Given the description of an element on the screen output the (x, y) to click on. 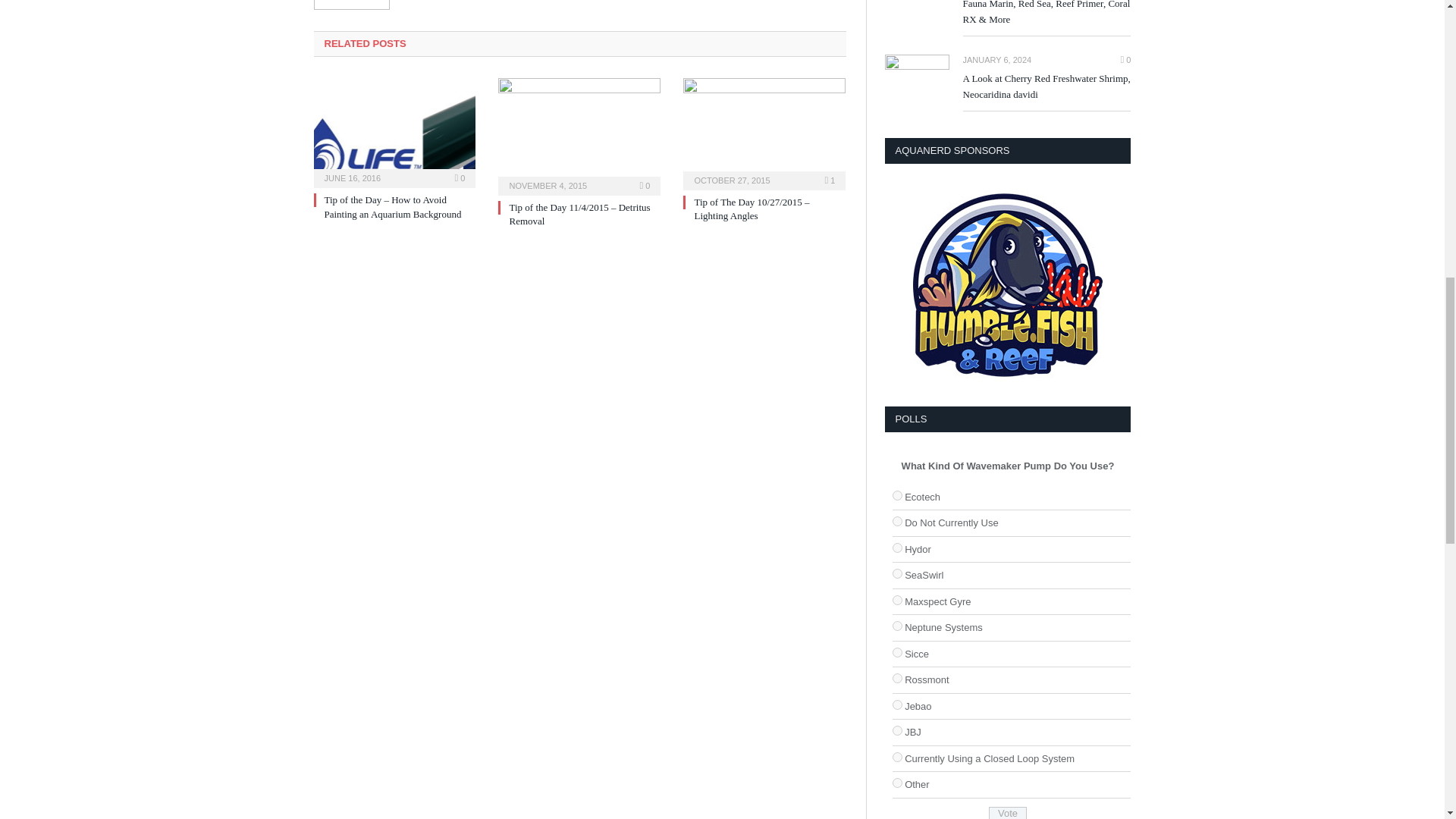
105 (896, 705)
108 (896, 625)
103 (896, 495)
110 (896, 573)
106 (896, 730)
104 (896, 547)
113 (896, 521)
109 (896, 678)
107 (896, 600)
111 (896, 652)
114 (896, 757)
   Vote    (1007, 812)
112 (896, 782)
